Given the description of an element on the screen output the (x, y) to click on. 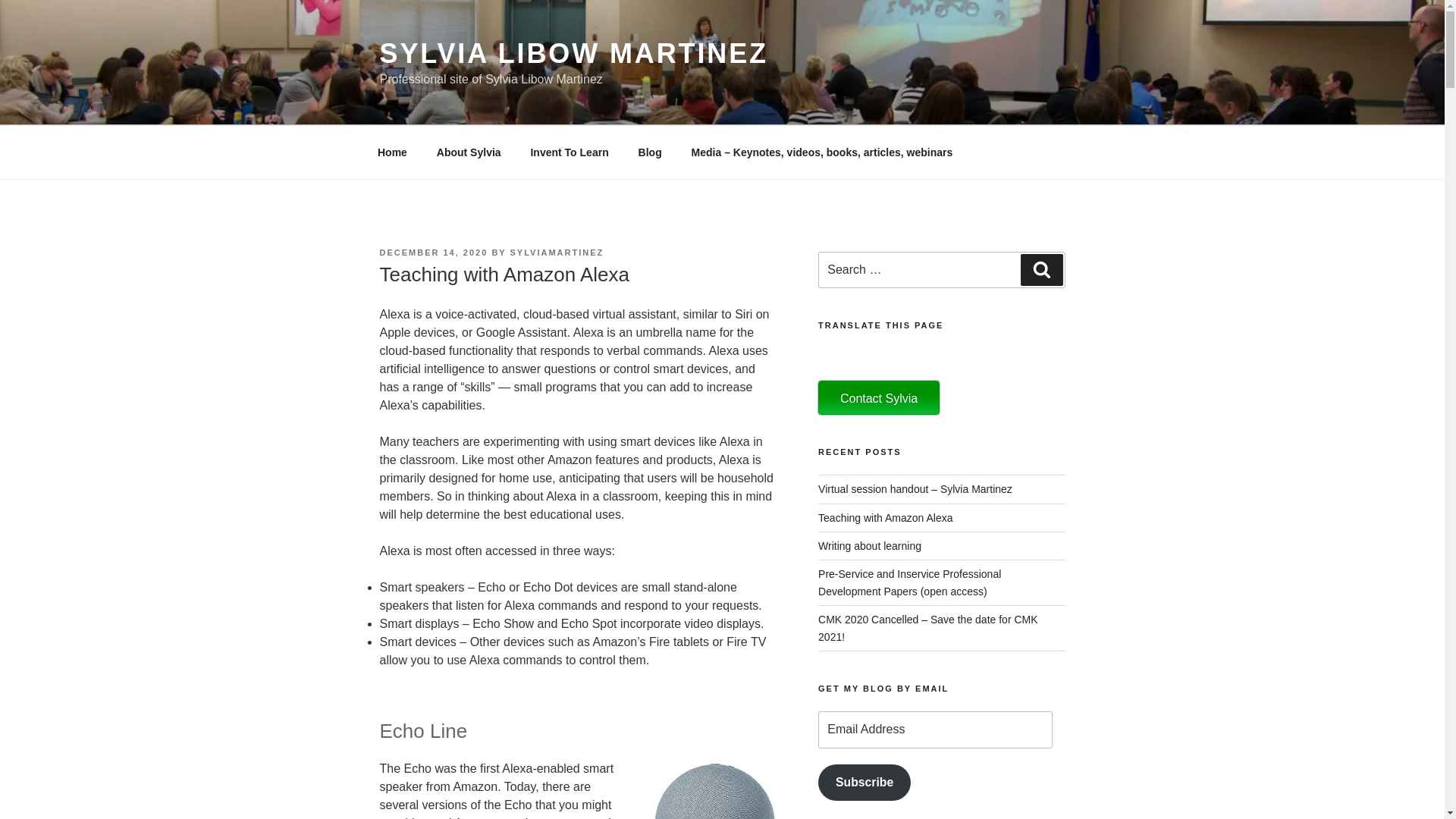
Subscribe (864, 782)
Teaching with Amazon Alexa (885, 517)
SYLVIAMARTINEZ (557, 252)
Writing about learning (869, 545)
Search (1041, 269)
DECEMBER 14, 2020 (432, 252)
About Sylvia (468, 151)
Invent To Learn (568, 151)
SYLVIA LIBOW MARTINEZ (572, 52)
Home (392, 151)
Contact Sylvia (878, 397)
Blog (649, 151)
